Given the description of an element on the screen output the (x, y) to click on. 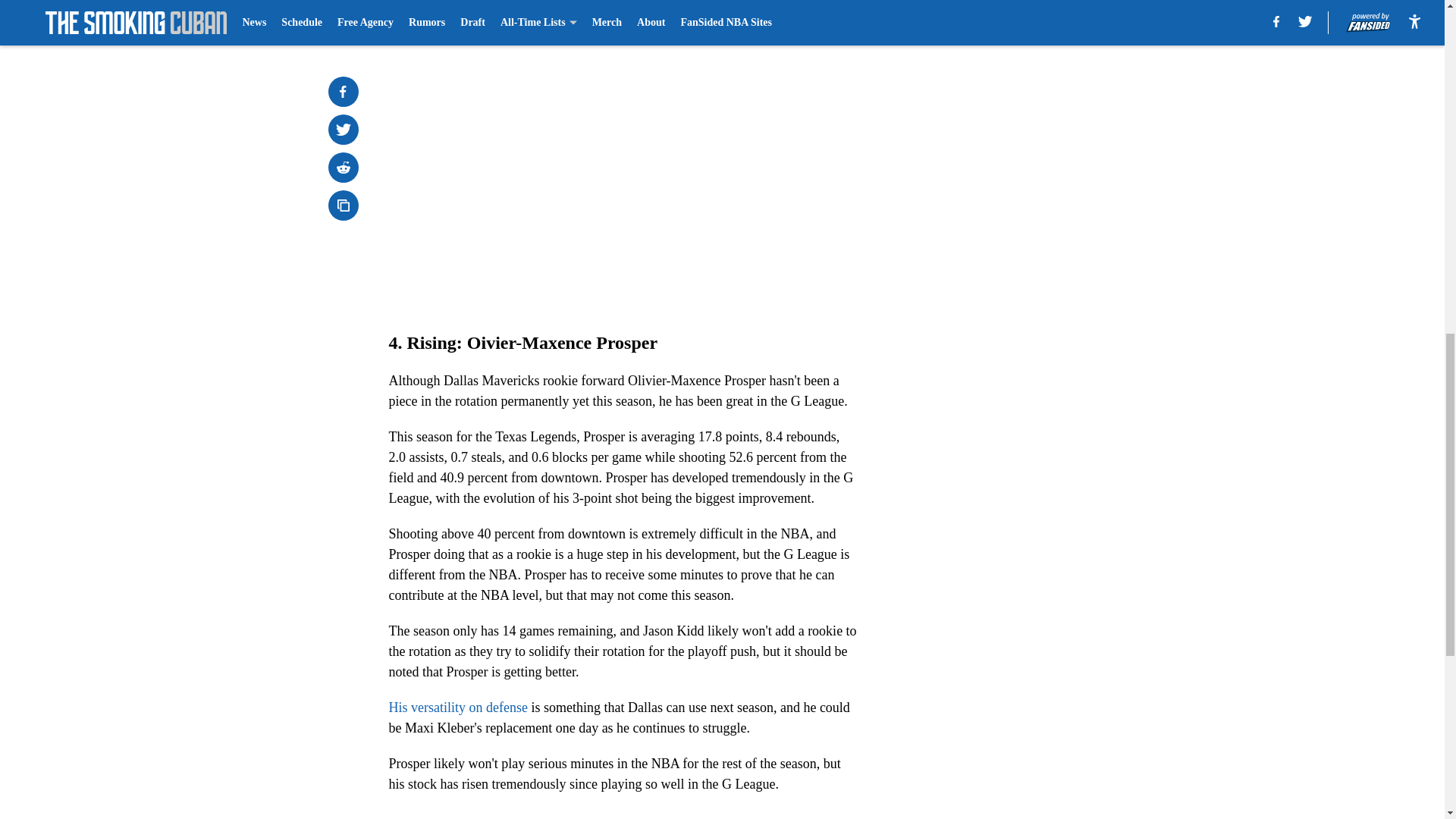
Prev (433, 20)
His versatility on defense (457, 707)
Next (813, 20)
